Given the description of an element on the screen output the (x, y) to click on. 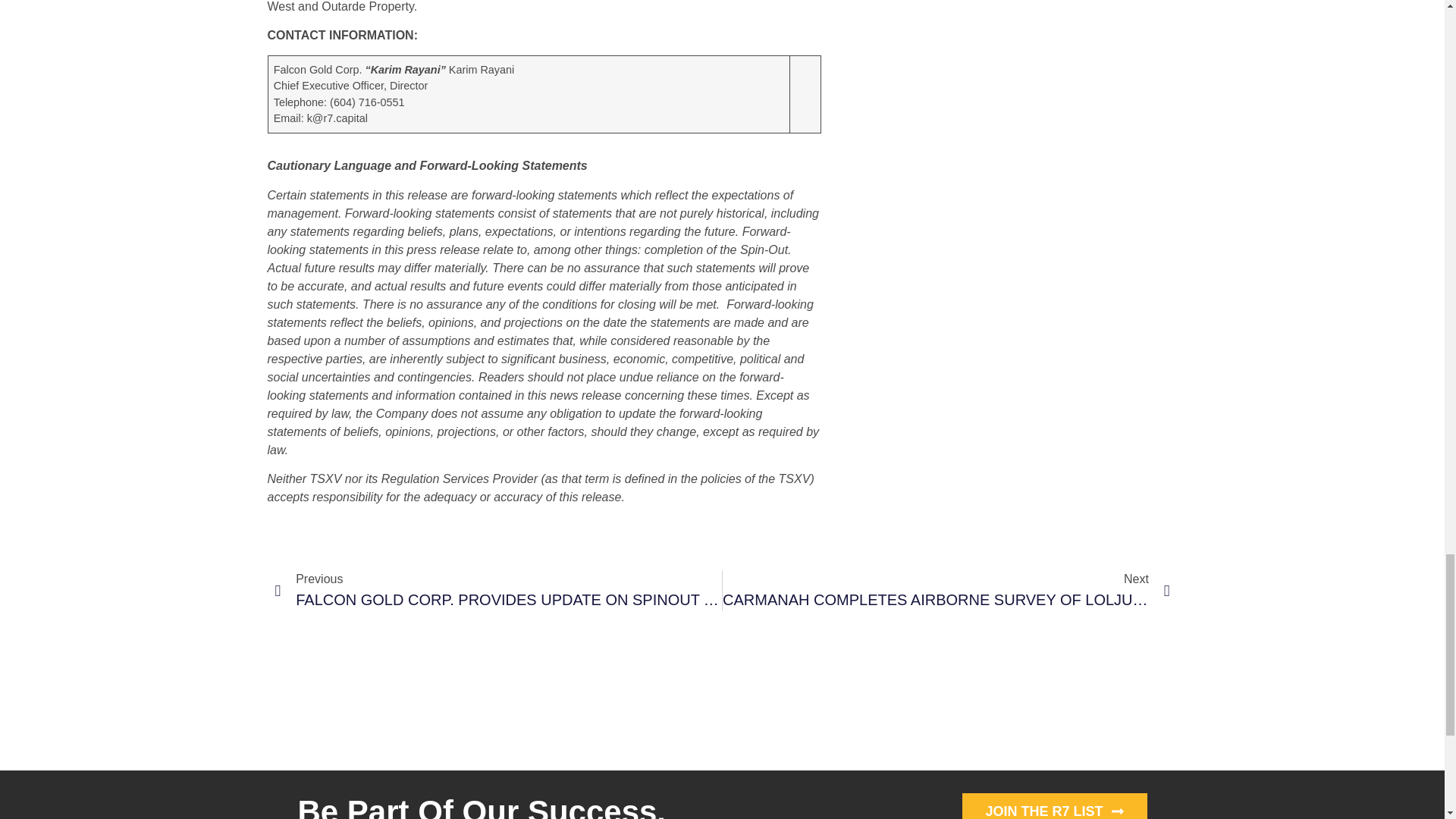
JOIN THE R7 LIST (1054, 806)
